Given the description of an element on the screen output the (x, y) to click on. 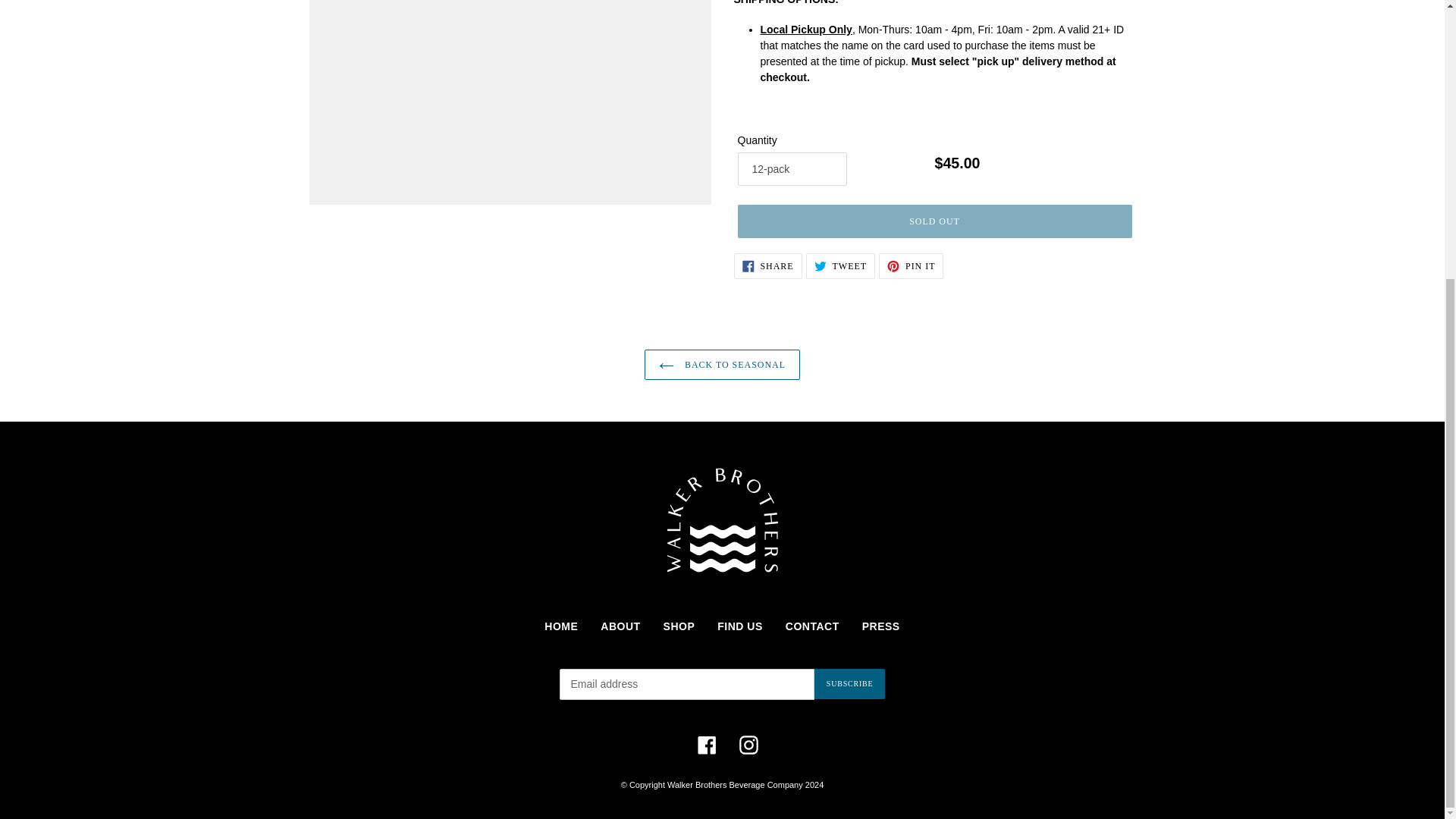
CONTACT (813, 625)
ABOUT (619, 625)
HOME (561, 625)
SHOP (911, 266)
Facebook (679, 625)
SUBSCRIBE (706, 744)
SOLD OUT (849, 684)
BACK TO SEASONAL (933, 221)
Instagram (722, 364)
